Given the description of an element on the screen output the (x, y) to click on. 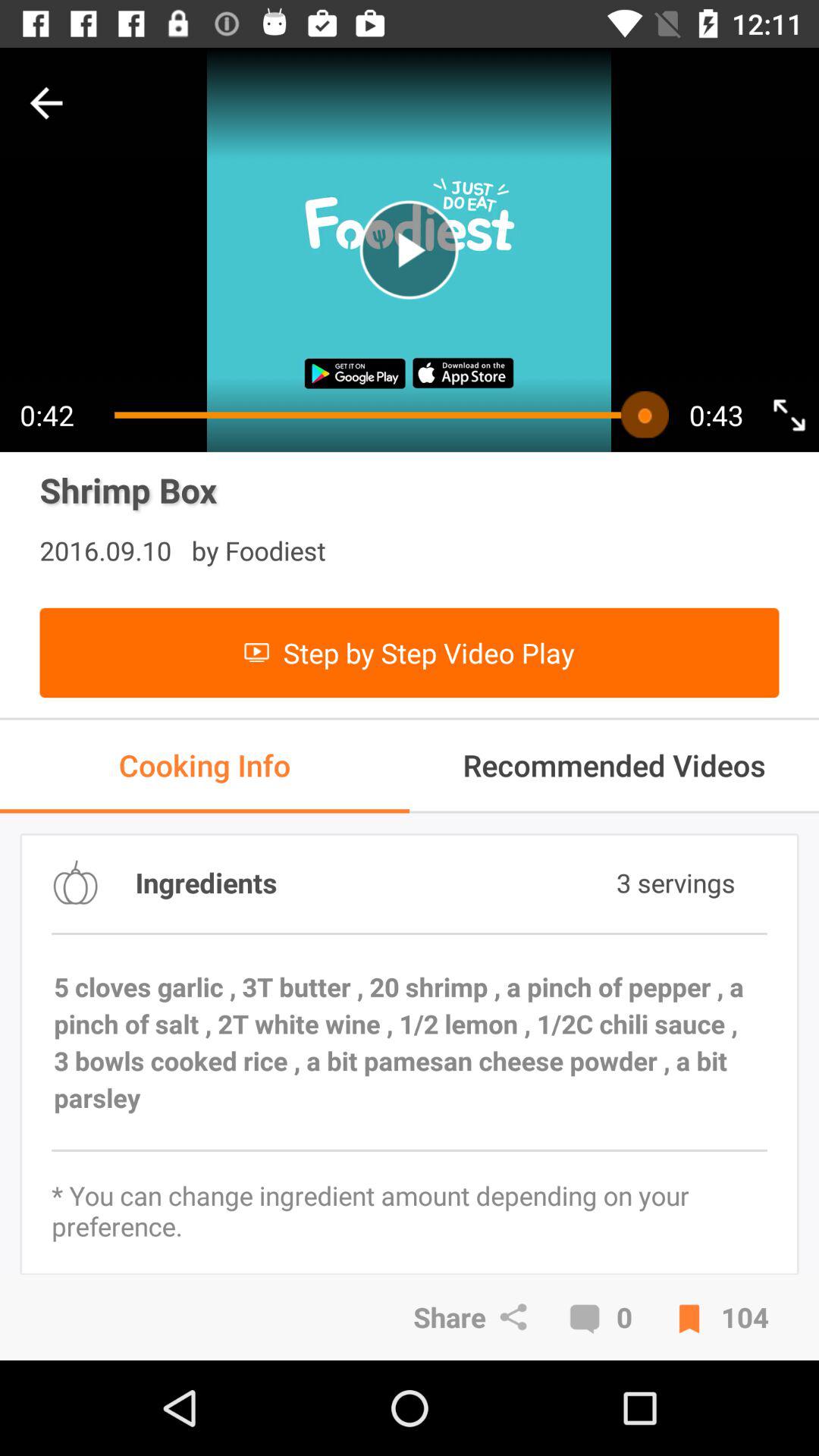
previous page (46, 102)
